Given the description of an element on the screen output the (x, y) to click on. 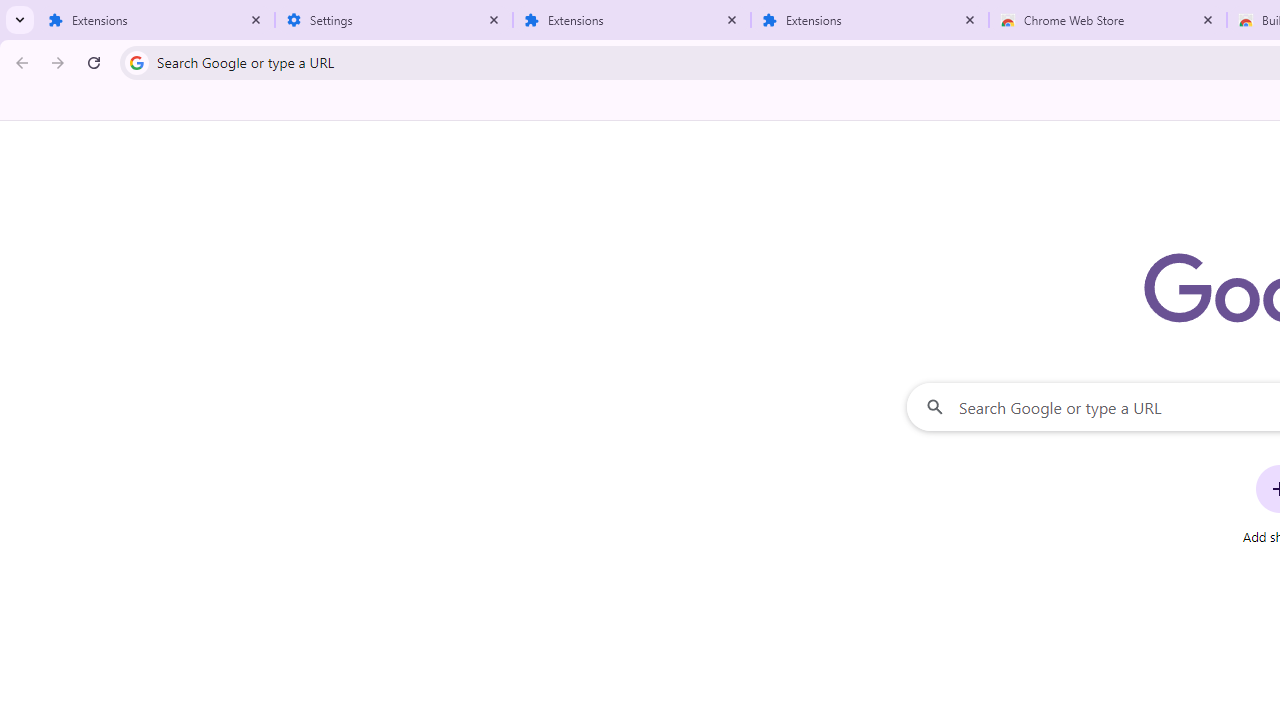
Extensions (632, 20)
Extensions (156, 20)
Settings (394, 20)
Extensions (870, 20)
Chrome Web Store (1108, 20)
